Given the description of an element on the screen output the (x, y) to click on. 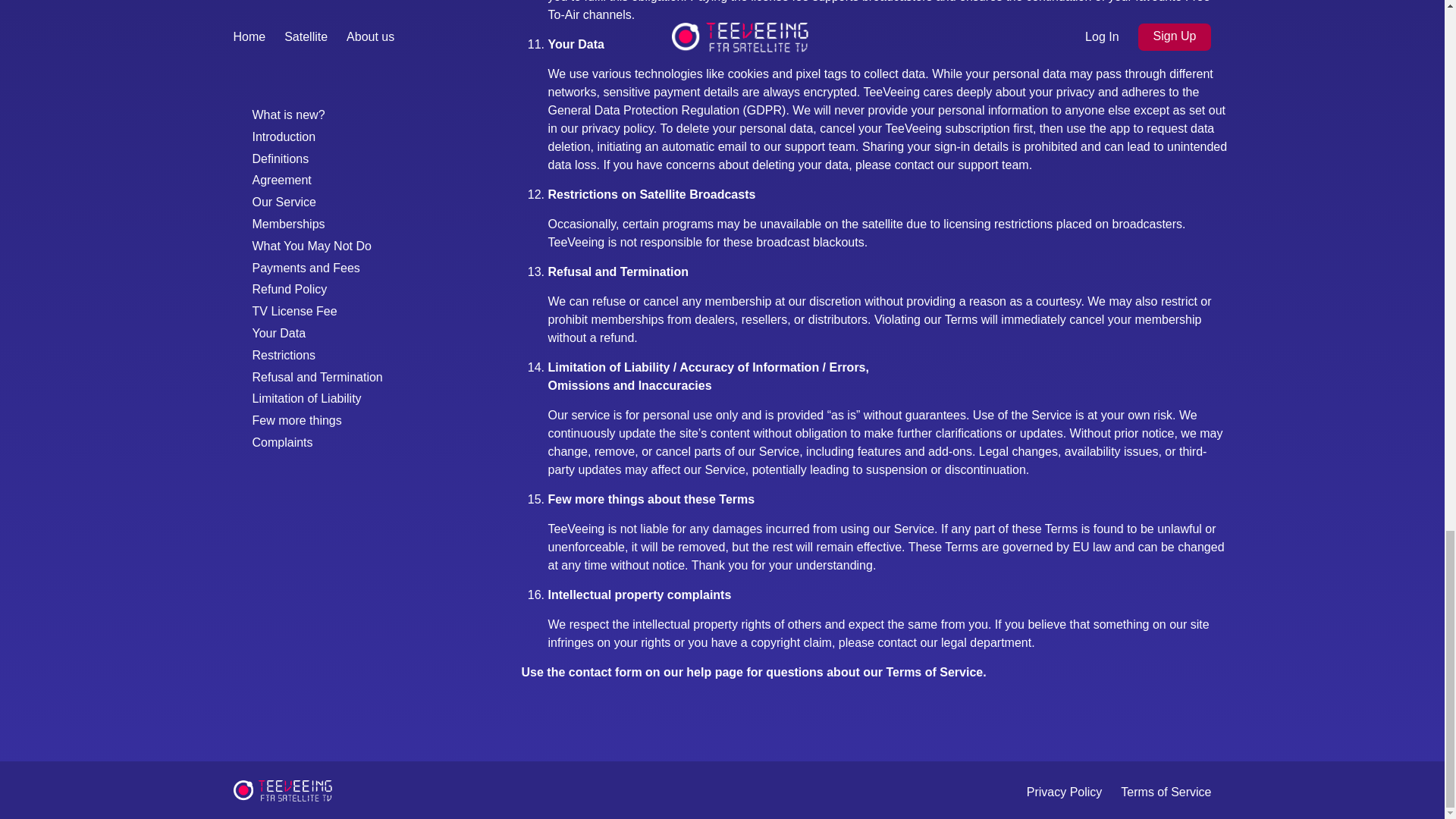
Terms of Service (1166, 792)
Privacy Policy (1064, 792)
